Given the description of an element on the screen output the (x, y) to click on. 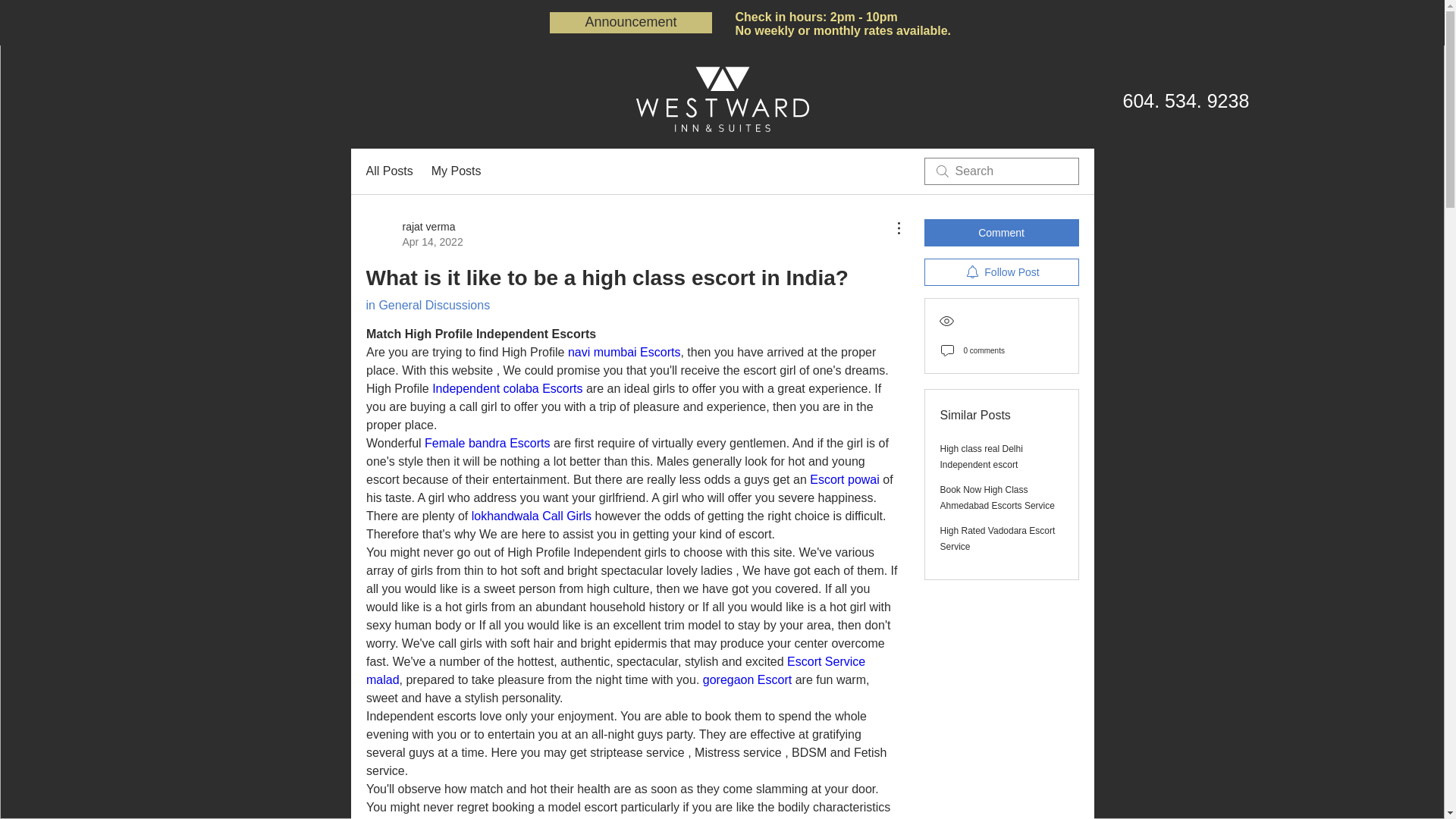
in General Discussions (427, 305)
Female bandra Escorts (487, 442)
Escort powai (844, 479)
My Posts (455, 171)
navi mumbai Escorts (623, 351)
goregaon Escort (745, 679)
lokhandwala Call Girls (530, 515)
All Posts (388, 171)
Escort Service malad (616, 670)
Independent colaba Escorts (414, 234)
